Given the description of an element on the screen output the (x, y) to click on. 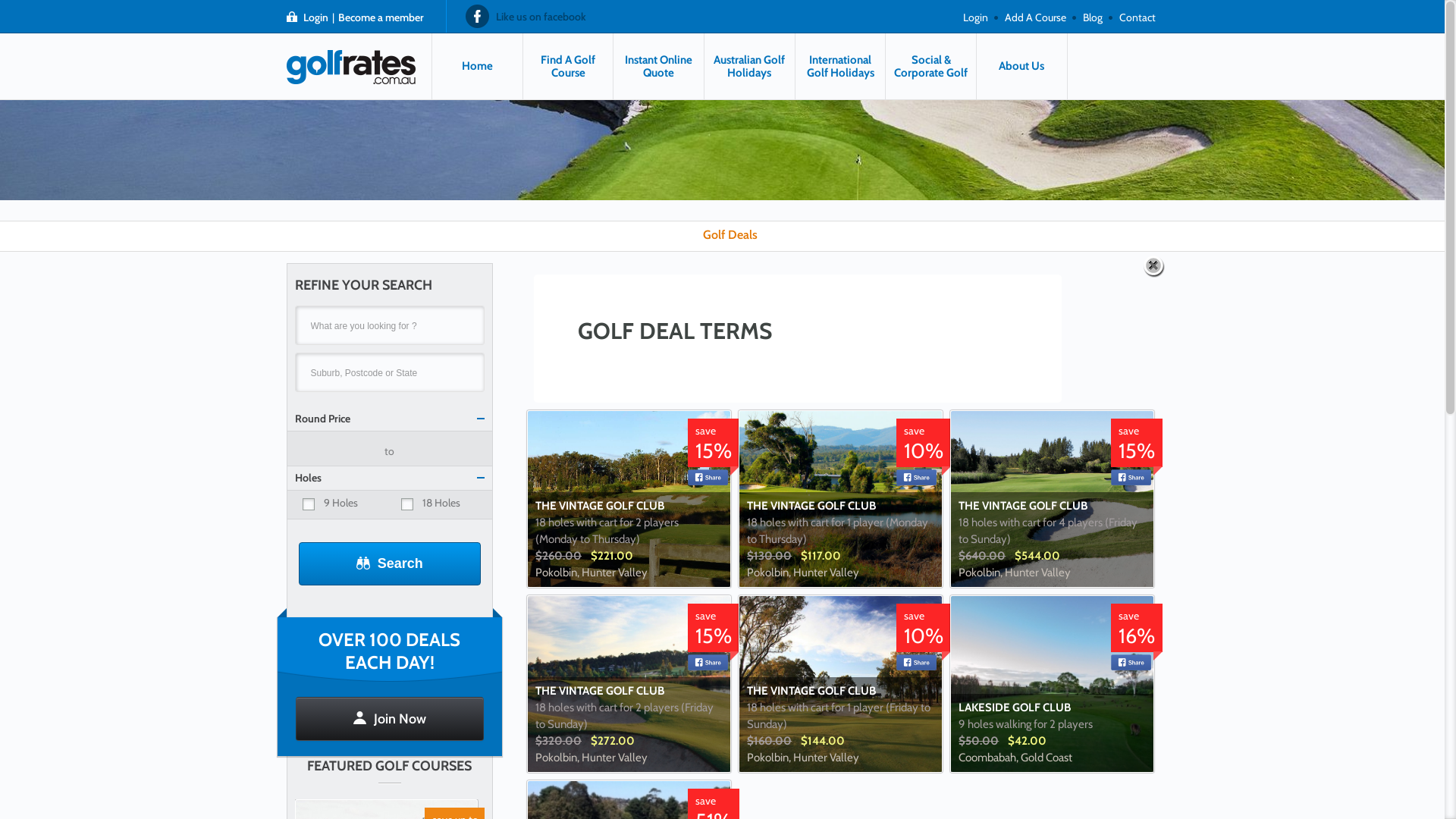
Instant Online Quote Element type: text (658, 66)
Find A Golf Course Element type: text (568, 66)
Social & Corporate Golf Element type: text (930, 66)
Login Element type: text (315, 16)
save
15% Element type: text (713, 631)
Become a member Element type: text (380, 16)
Contact Element type: text (1137, 15)
Close X Element type: text (1154, 266)
save
15% Element type: text (1136, 446)
Home Element type: text (477, 66)
Join Now Element type: text (389, 718)
Add A Course Element type: text (1034, 15)
Like us on facebook Element type: text (529, 15)
Search Element type: text (389, 563)
save
10% Element type: text (923, 631)
Login Element type: text (975, 15)
save
10% Element type: text (923, 446)
save
16% Element type: text (1136, 631)
Blog Element type: text (1092, 15)
About Us Element type: text (1021, 66)
save
15% Element type: text (713, 446)
International Golf Holidays Element type: text (840, 66)
Australian Golf Holidays Element type: text (749, 66)
